Given the description of an element on the screen output the (x, y) to click on. 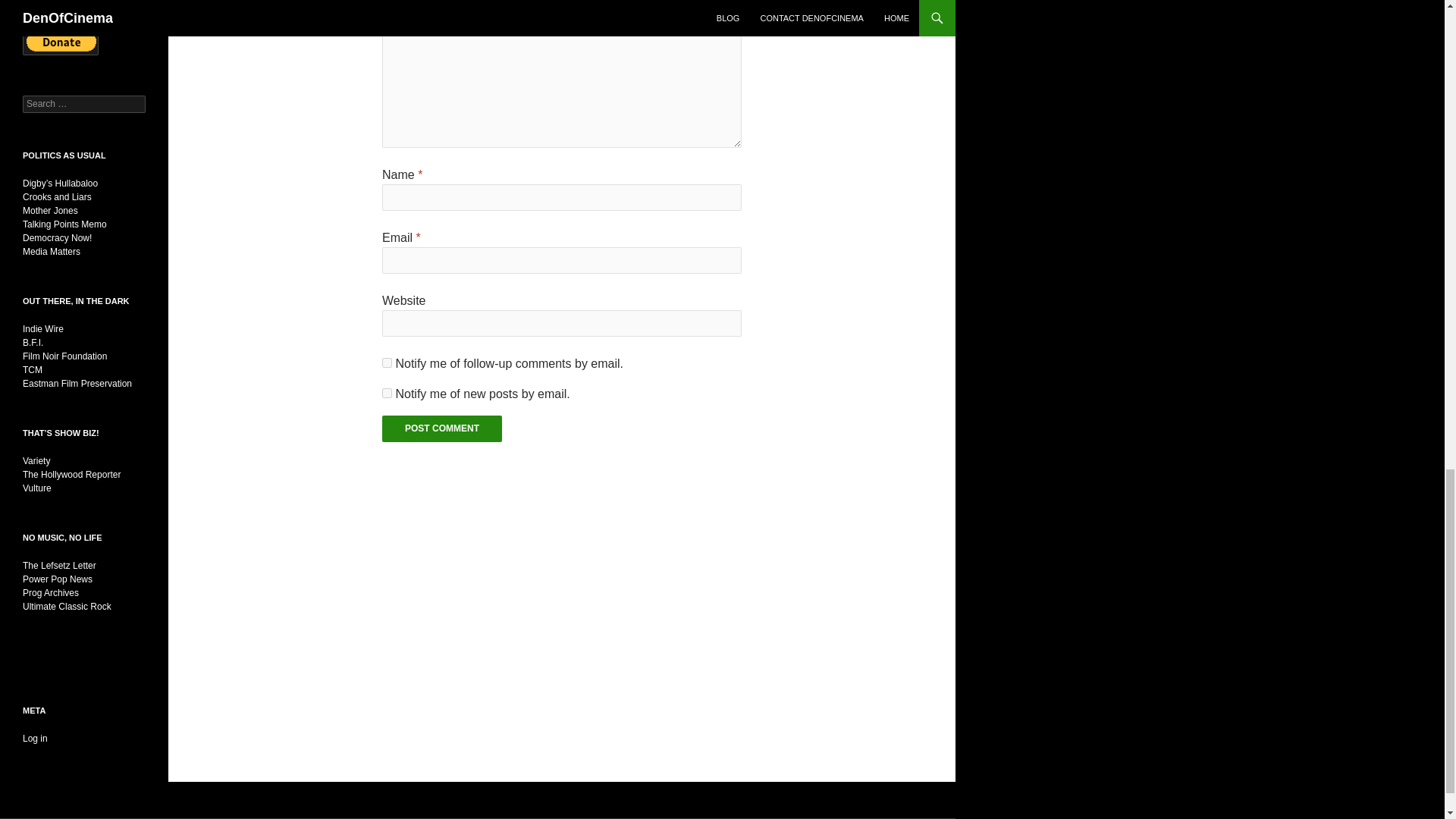
Post Comment (441, 428)
Post Comment (441, 428)
subscribe (386, 393)
subscribe (386, 362)
